Given the description of an element on the screen output the (x, y) to click on. 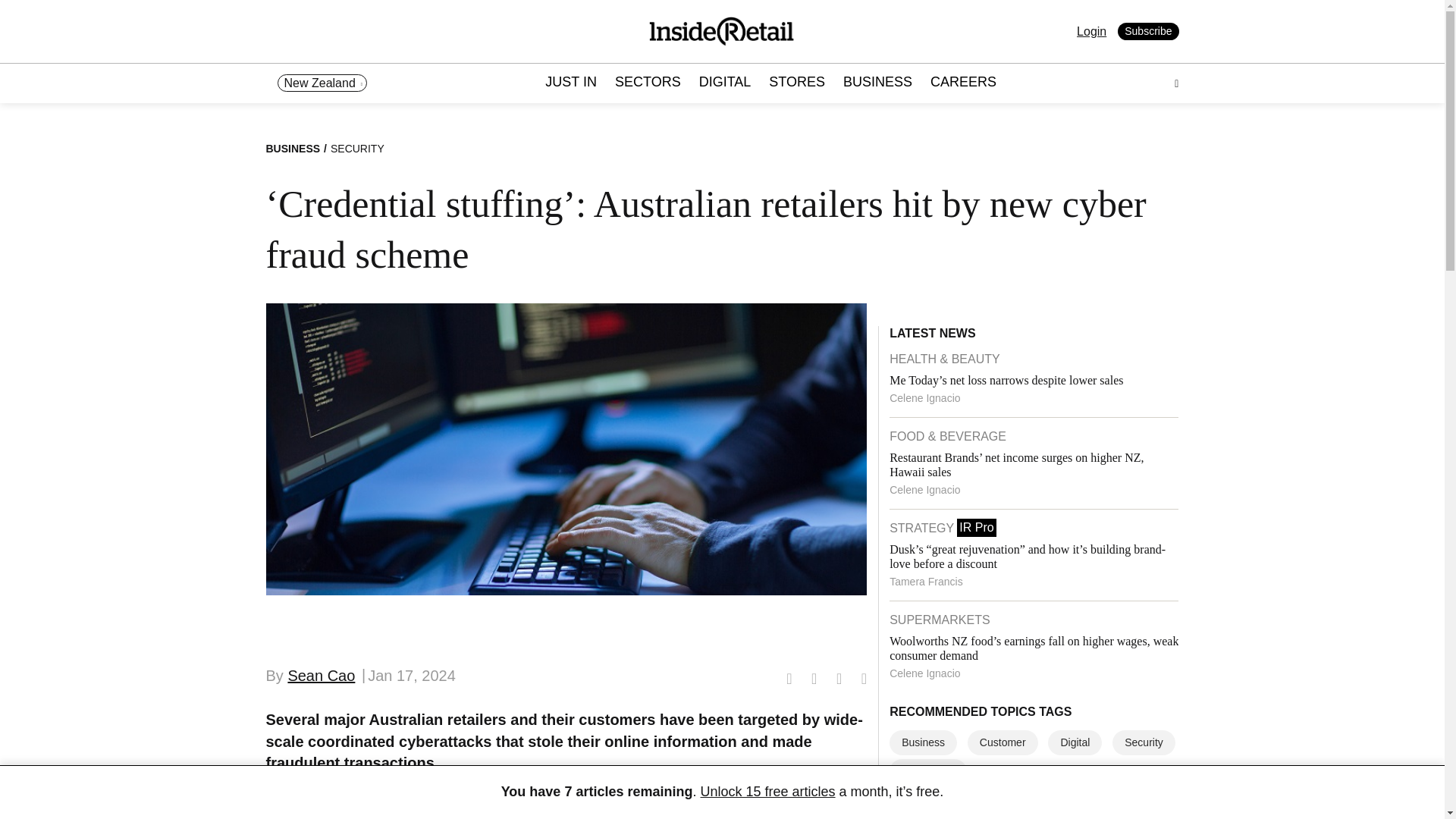
Digital (1075, 742)
Customer (1003, 742)
JUST IN (570, 83)
Security (1143, 742)
Subscribe (1147, 31)
New Zealand (322, 82)
Login (1091, 31)
Top Stories (927, 771)
DIGITAL (725, 83)
Business (922, 742)
